Given the description of an element on the screen output the (x, y) to click on. 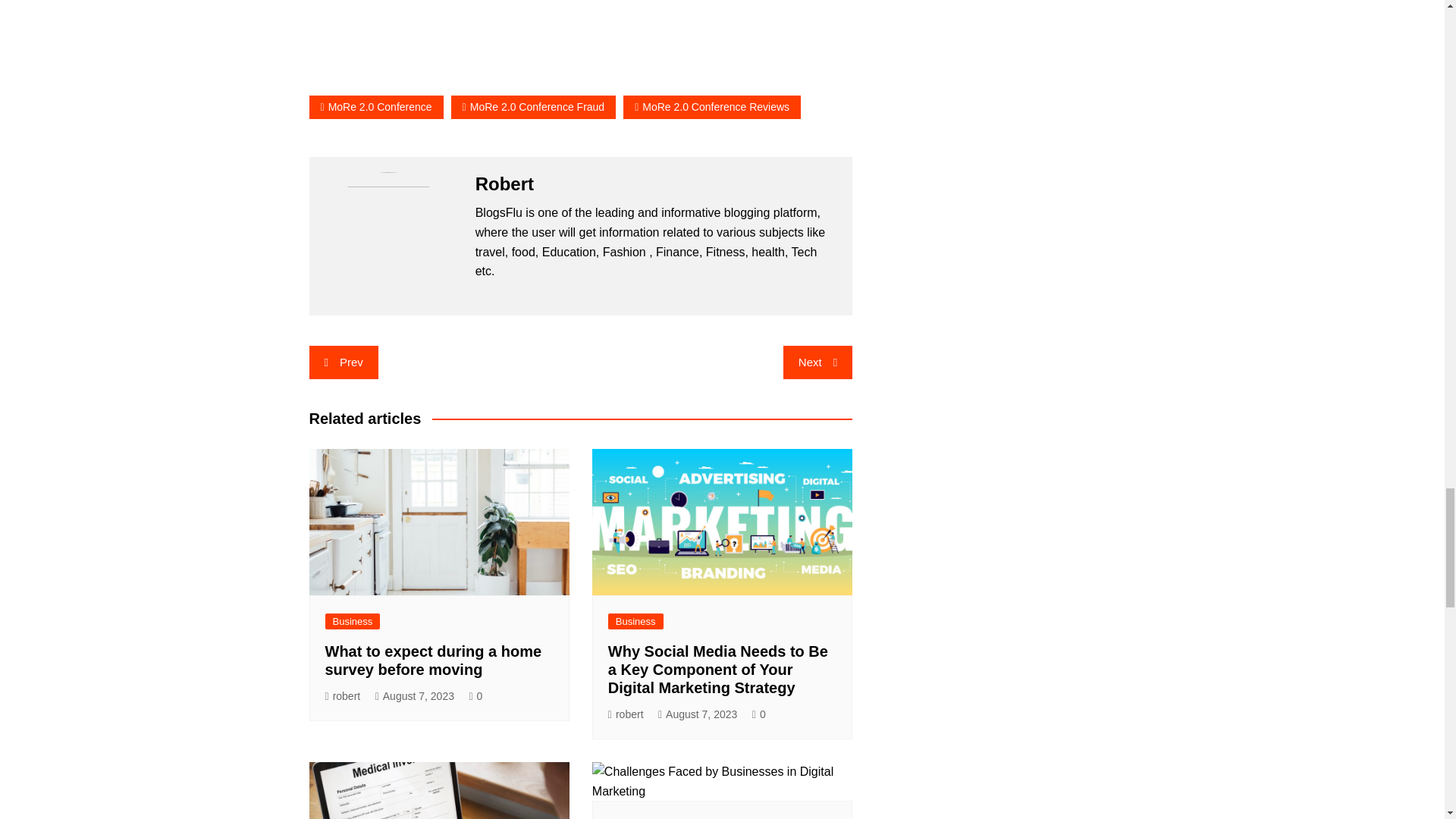
MoRe 2.0 Conference (376, 106)
MoRe 2.0 Conference Reviews (711, 106)
MoRe 2.0 Conference Fraud (533, 106)
